Given the description of an element on the screen output the (x, y) to click on. 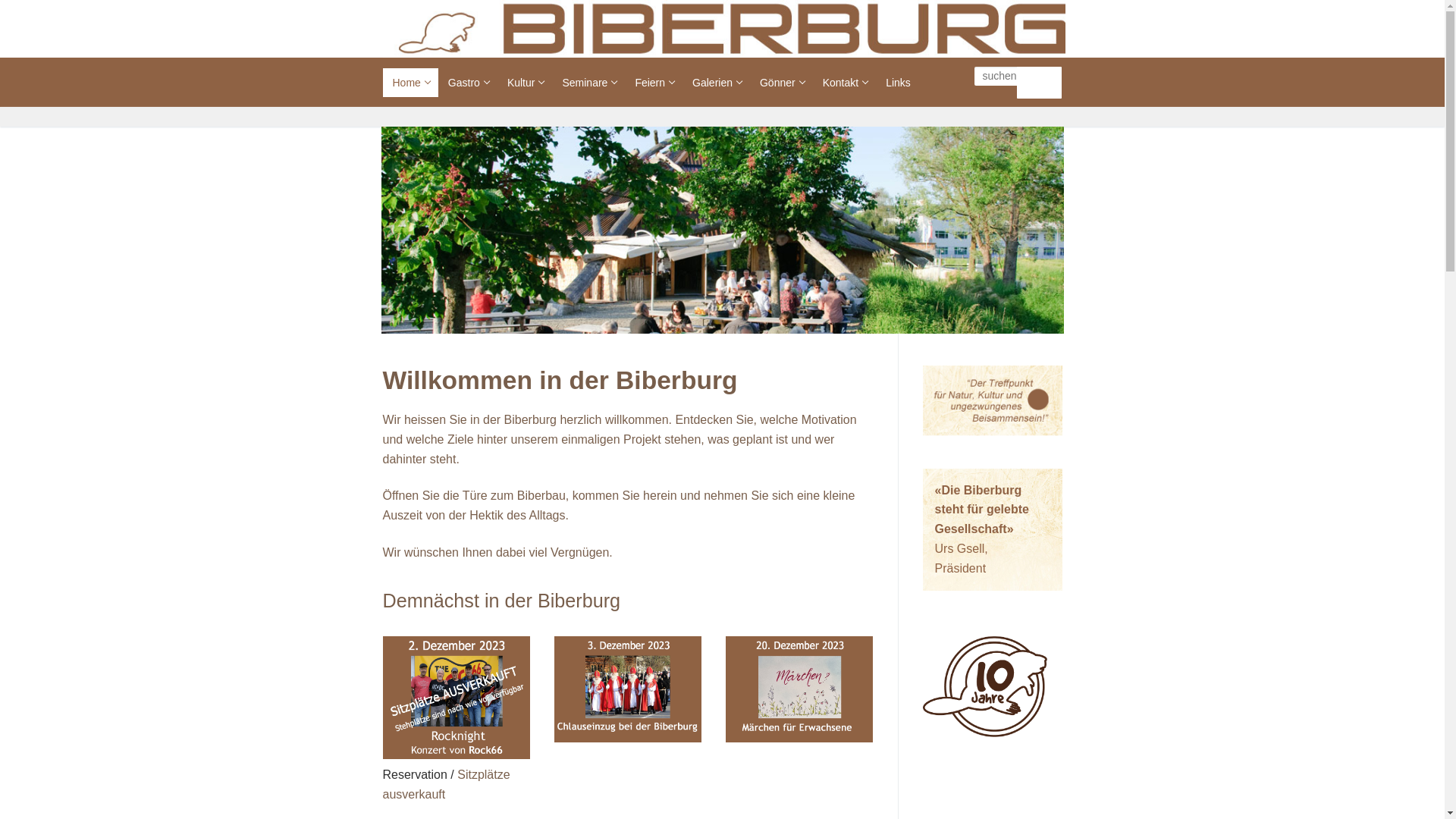
Suchen nach: Element type: hover (1010, 75)
Kultur
  Element type: text (524, 82)
Home
  Element type: text (409, 82)
Kontakt
  Element type: text (843, 82)
Seminare
  Element type: text (588, 82)
Feiern
  Element type: text (653, 82)
Reservation / Element type: text (419, 774)
Gastro
  Element type: text (467, 82)
Galerien
  Element type: text (715, 82)
Links Element type: text (897, 82)
